Given the description of an element on the screen output the (x, y) to click on. 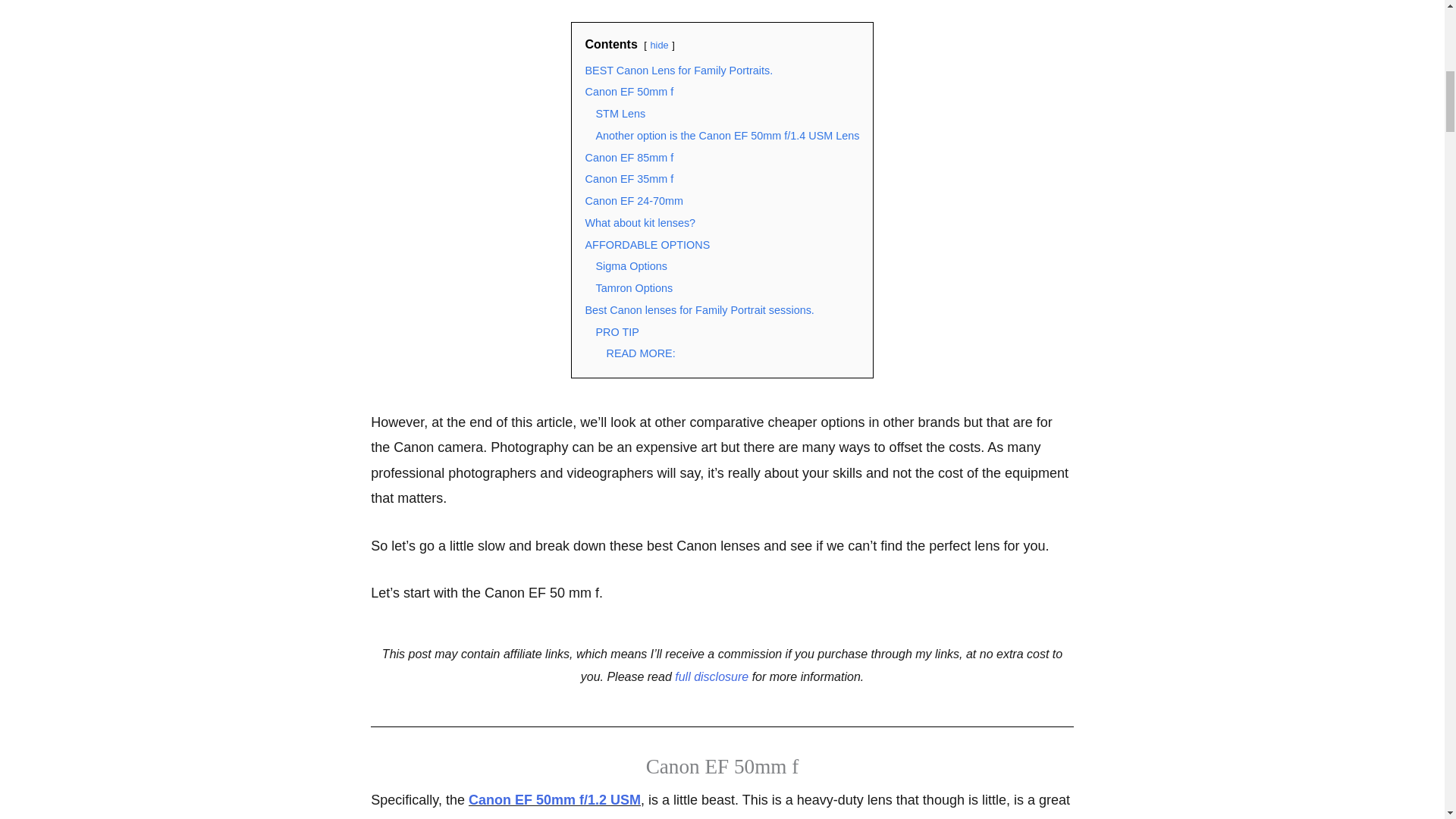
hide (658, 44)
BEST Canon Lens for Family Portraits. (679, 70)
